Given the description of an element on the screen output the (x, y) to click on. 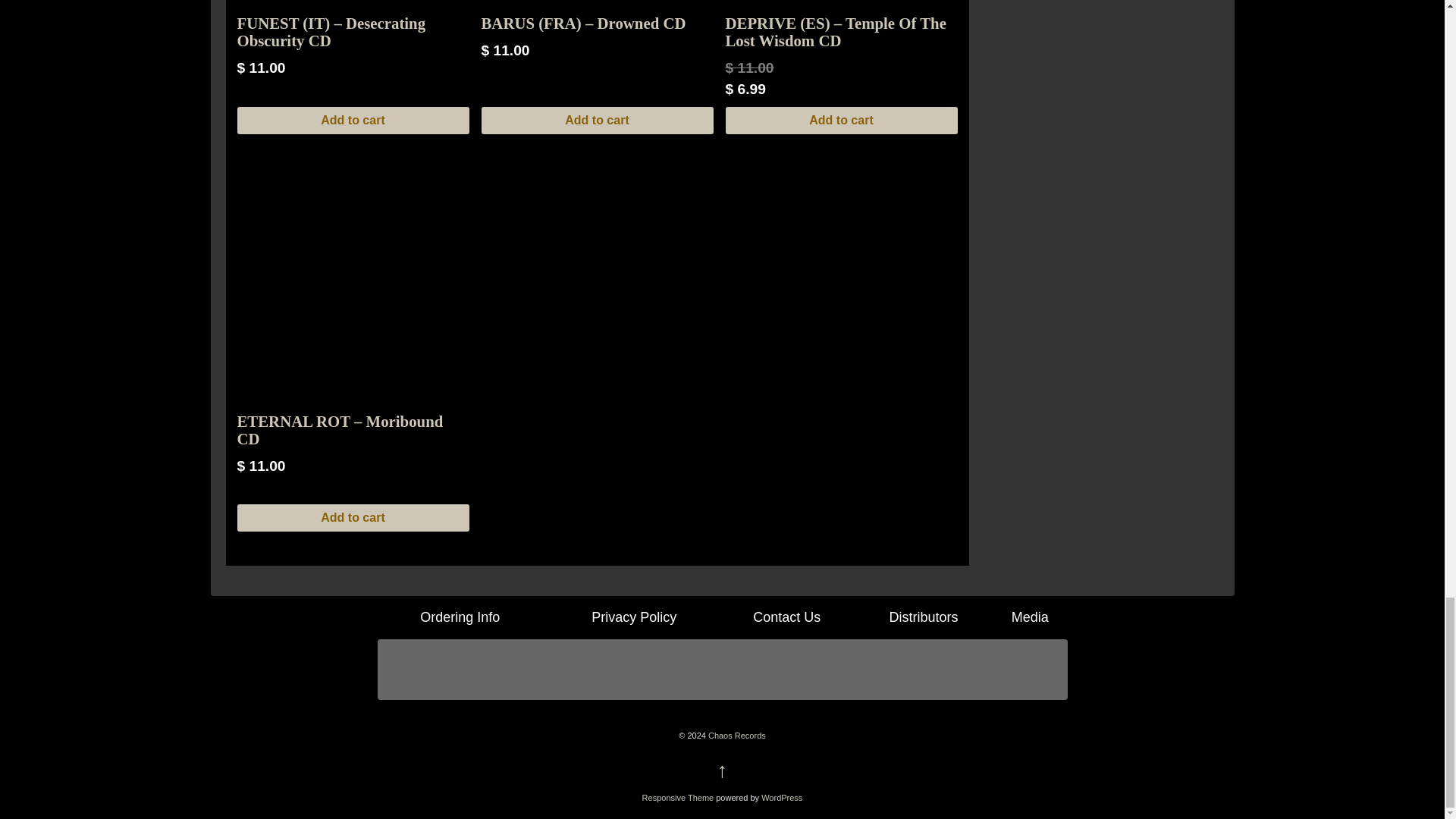
Add to cart (840, 120)
Add to cart (596, 120)
Responsive Theme (678, 797)
scroll to top (722, 770)
Chaos Records (735, 735)
WordPress (781, 797)
Add to cart (351, 120)
